Given the description of an element on the screen output the (x, y) to click on. 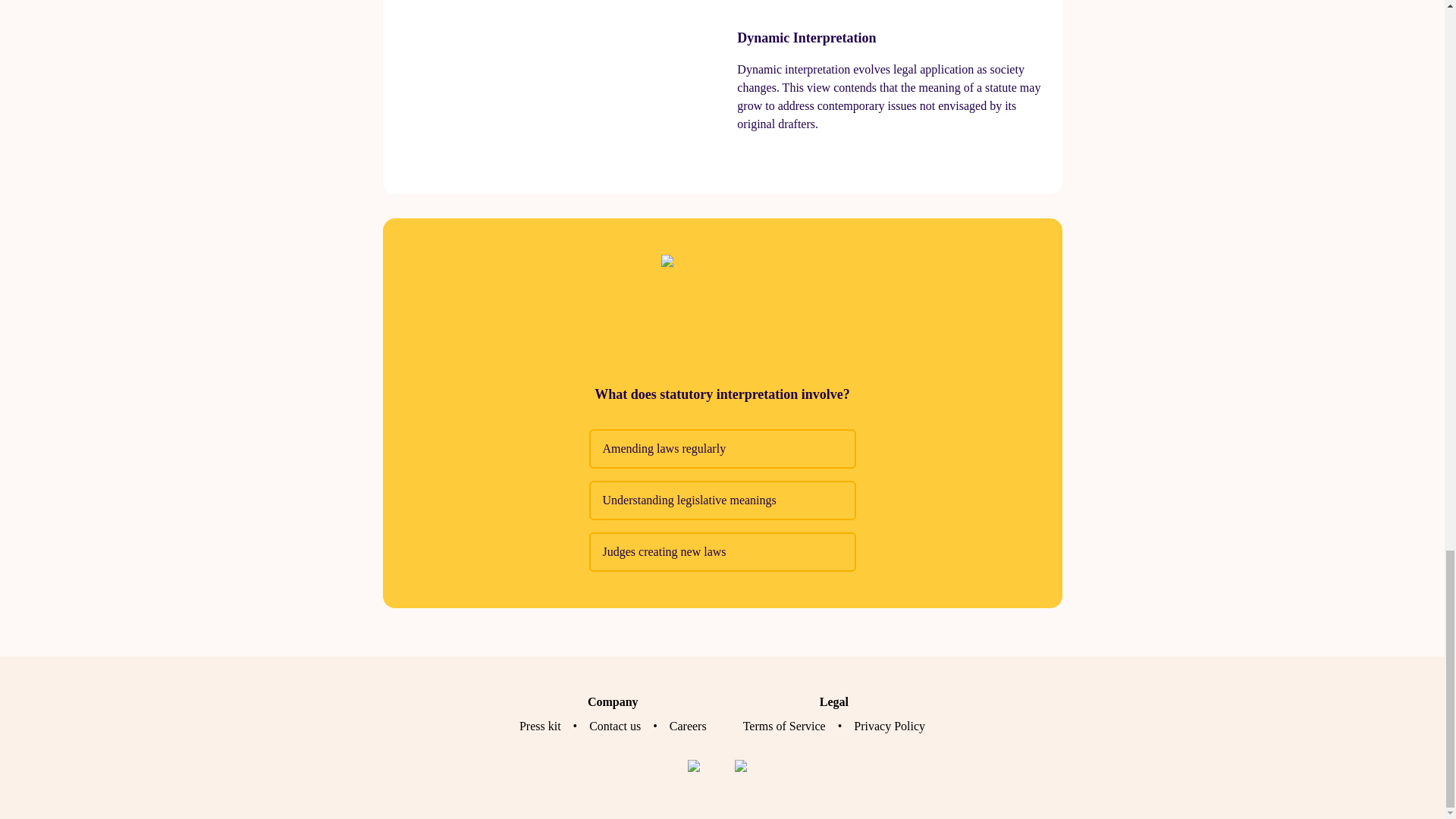
Careers (687, 725)
Terms of Service (783, 725)
Privacy Policy (888, 725)
Contact us (614, 725)
Press kit (539, 725)
